Given the description of an element on the screen output the (x, y) to click on. 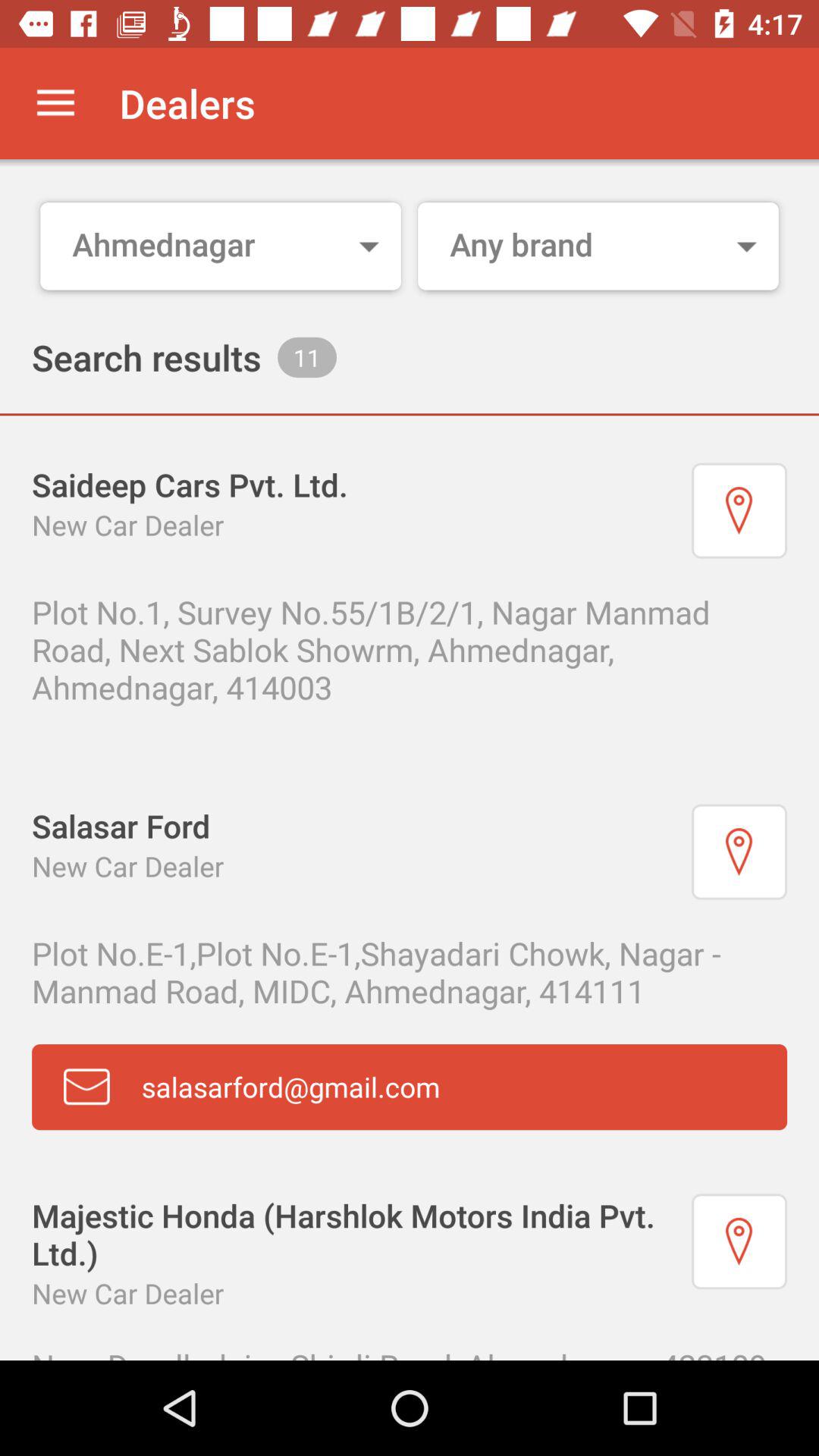
favorite dealer (739, 851)
